Given the description of an element on the screen output the (x, y) to click on. 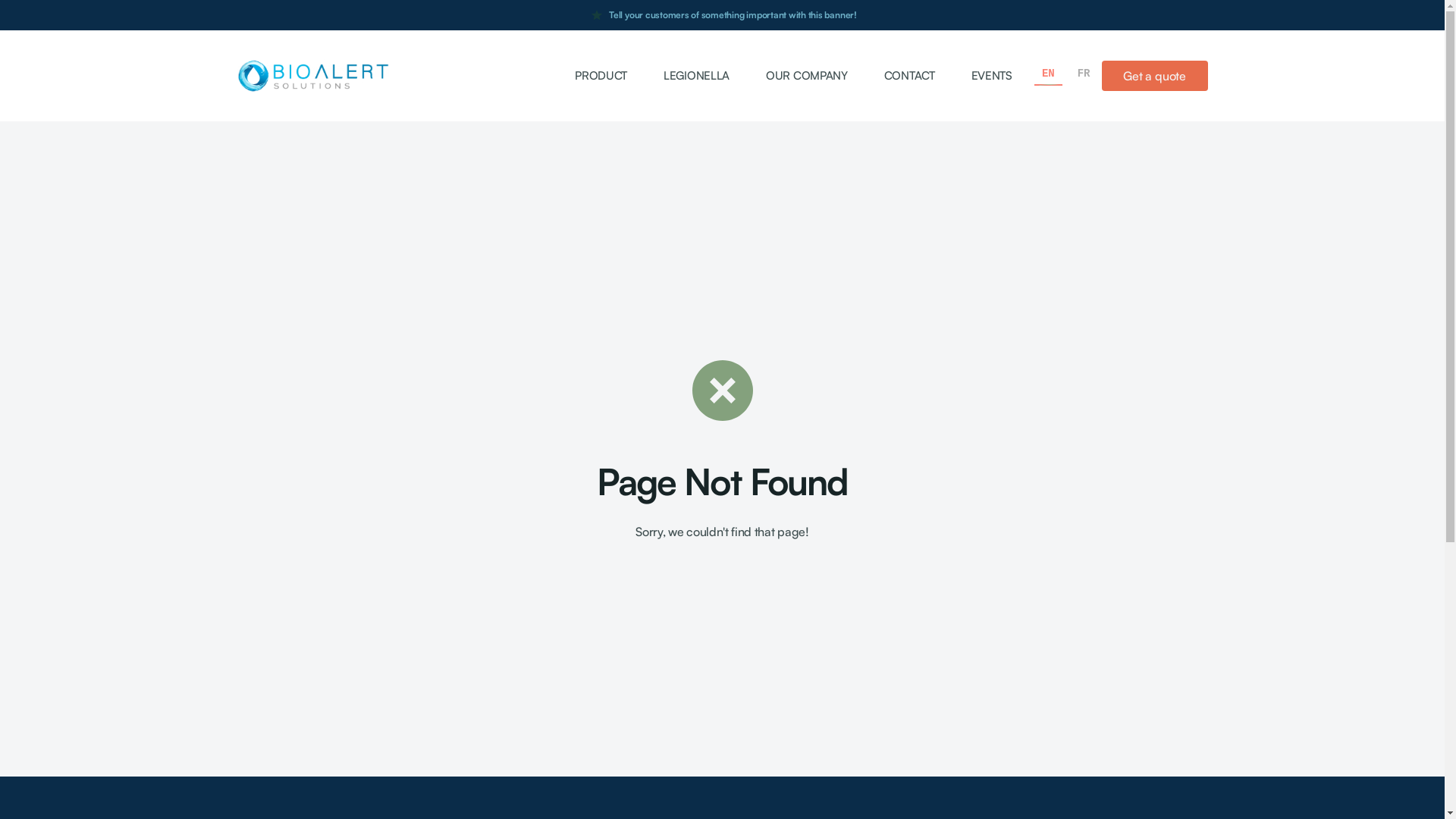
CONTACT Element type: text (909, 75)
EVENTS Element type: text (991, 75)
Get a quote Element type: text (1154, 75)
FR Element type: text (1083, 73)
LEGIONELLA Element type: text (696, 75)
OUR COMPANY Element type: text (806, 75)
EN Element type: text (1047, 73)
PRODUCT Element type: text (600, 75)
